Given the description of an element on the screen output the (x, y) to click on. 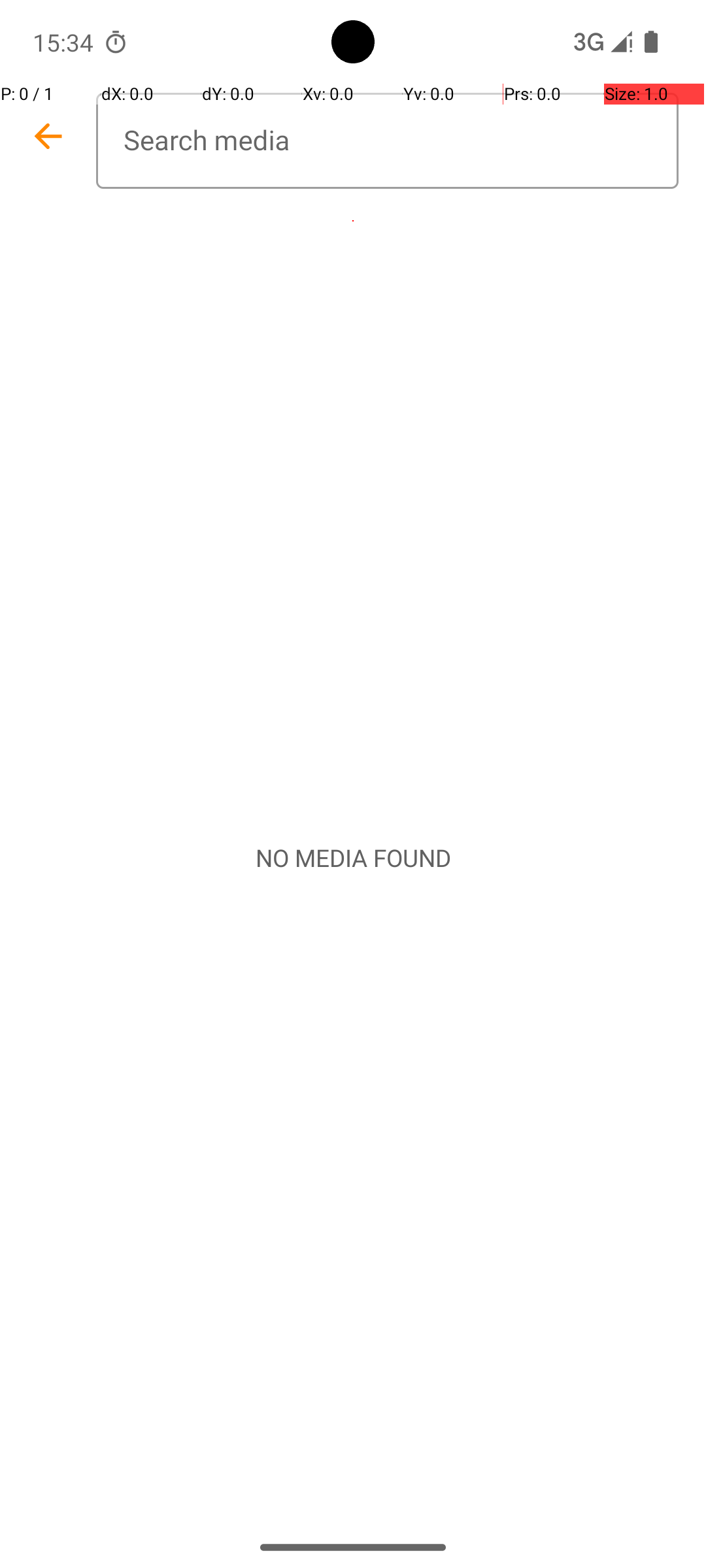
Search media Element type: android.widget.EditText (387, 140)
NO MEDIA FOUND Element type: android.widget.TextView (353, 857)
